Given the description of an element on the screen output the (x, y) to click on. 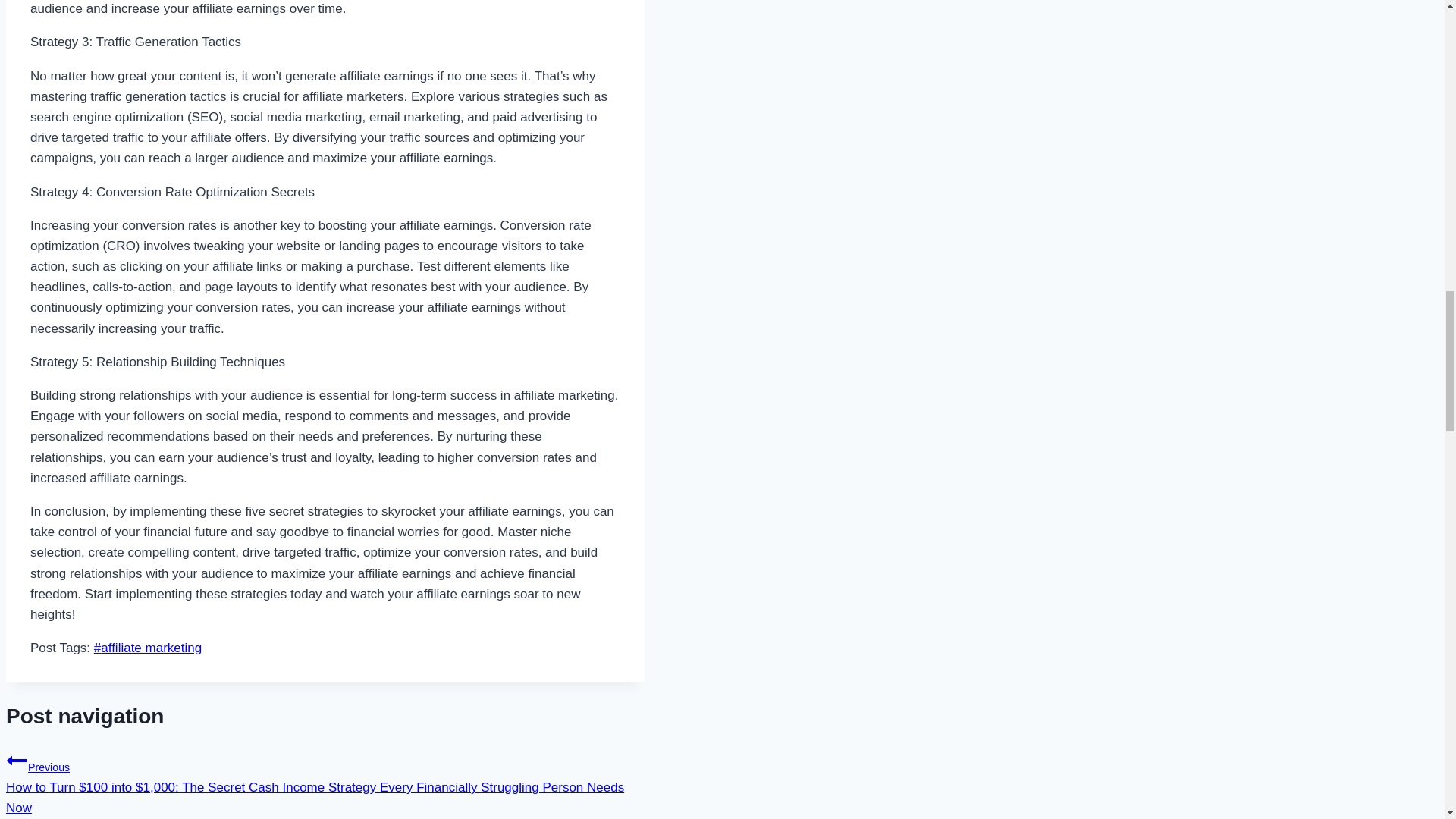
Previous (16, 760)
affiliate marketing (148, 647)
